Given the description of an element on the screen output the (x, y) to click on. 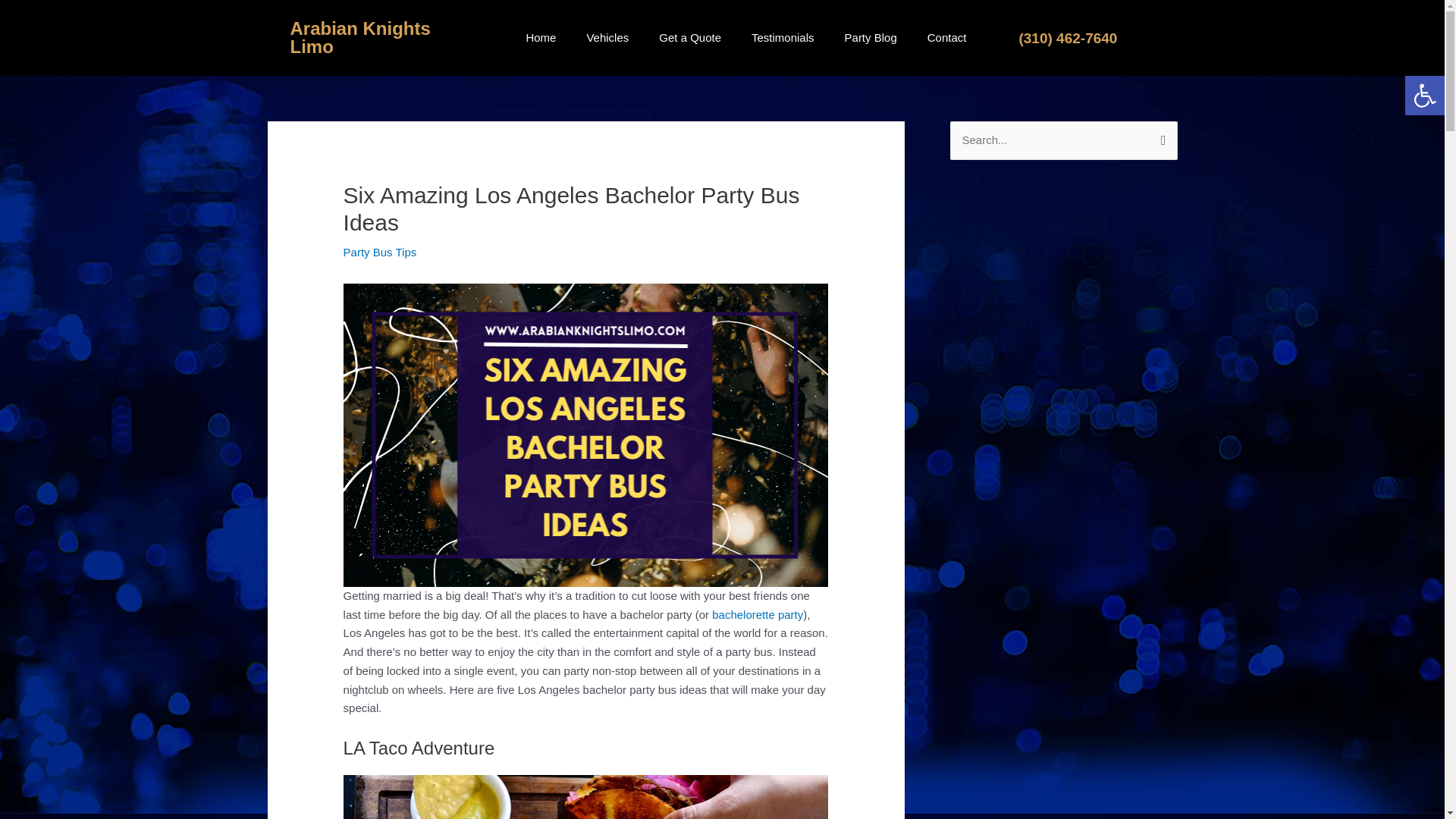
Party Bus Tips (379, 251)
Get a Quote (689, 38)
Party Blog (870, 38)
Contact (946, 38)
Accessibility Tools (1424, 95)
Arabian Knights Limo (359, 37)
Vehicles (606, 38)
Testimonials (782, 38)
bachelorette party (757, 614)
